Given the description of an element on the screen output the (x, y) to click on. 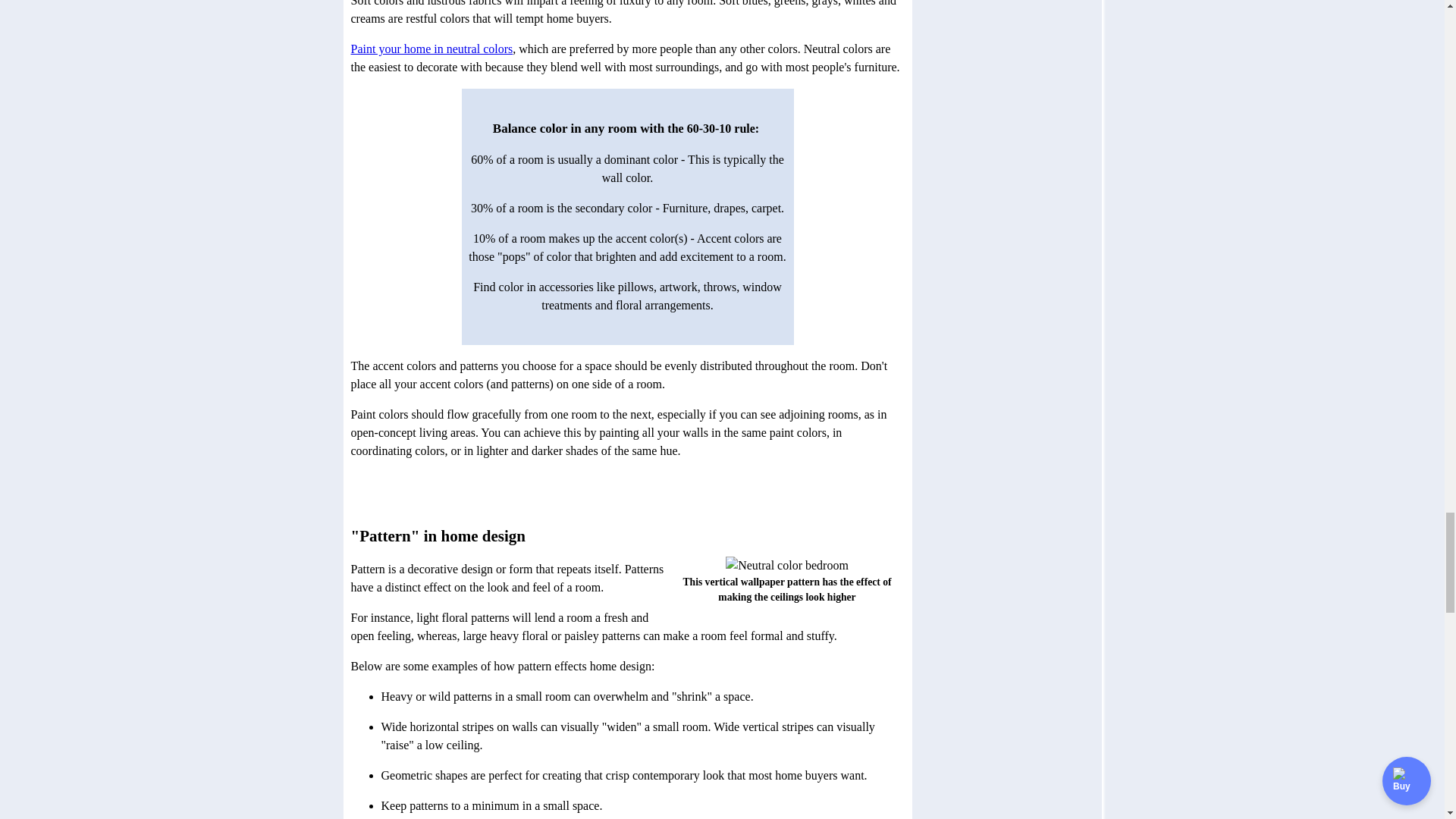
Neutral color bedroom (786, 565)
Paint your home in neutral colors (431, 48)
